Given the description of an element on the screen output the (x, y) to click on. 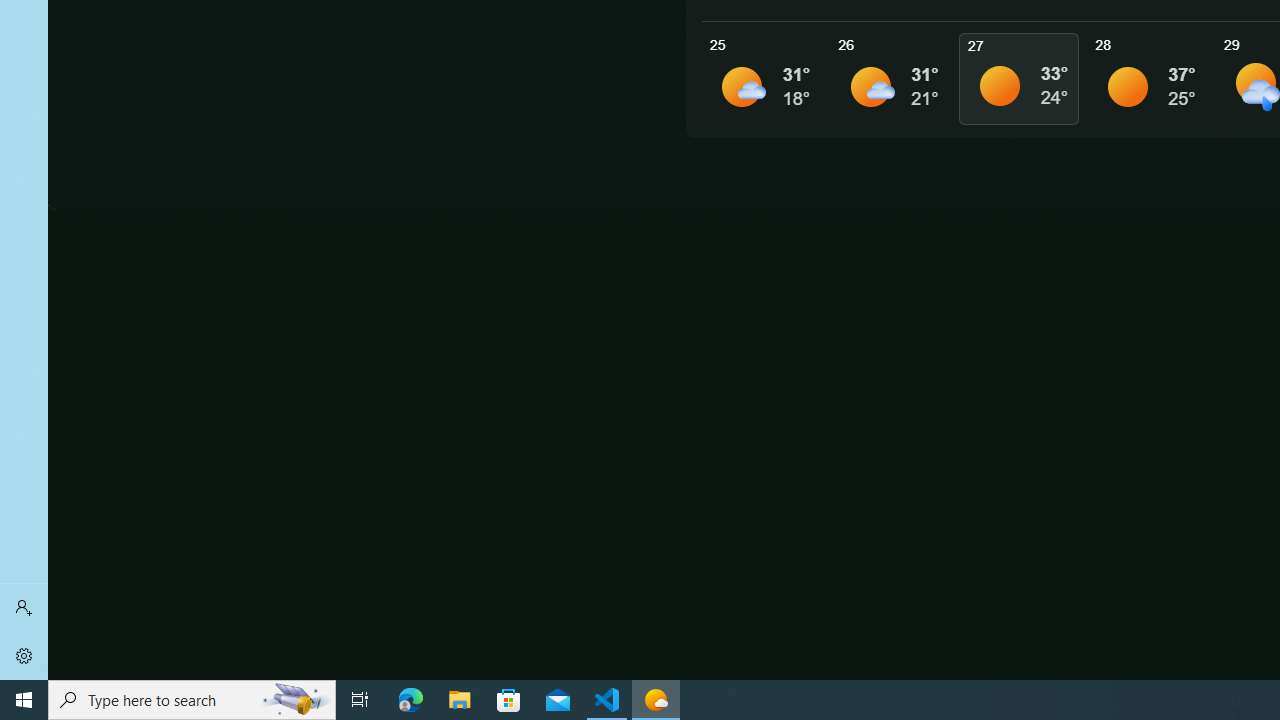
Microsoft Store (509, 699)
Search highlights icon opens search home window (295, 699)
Sign in (24, 607)
File Explorer (460, 699)
Task View (359, 699)
Type here to search (191, 699)
Weather - 1 running window (656, 699)
Microsoft Edge (411, 699)
Settings (24, 655)
Visual Studio Code - 1 running window (607, 699)
